Given the description of an element on the screen output the (x, y) to click on. 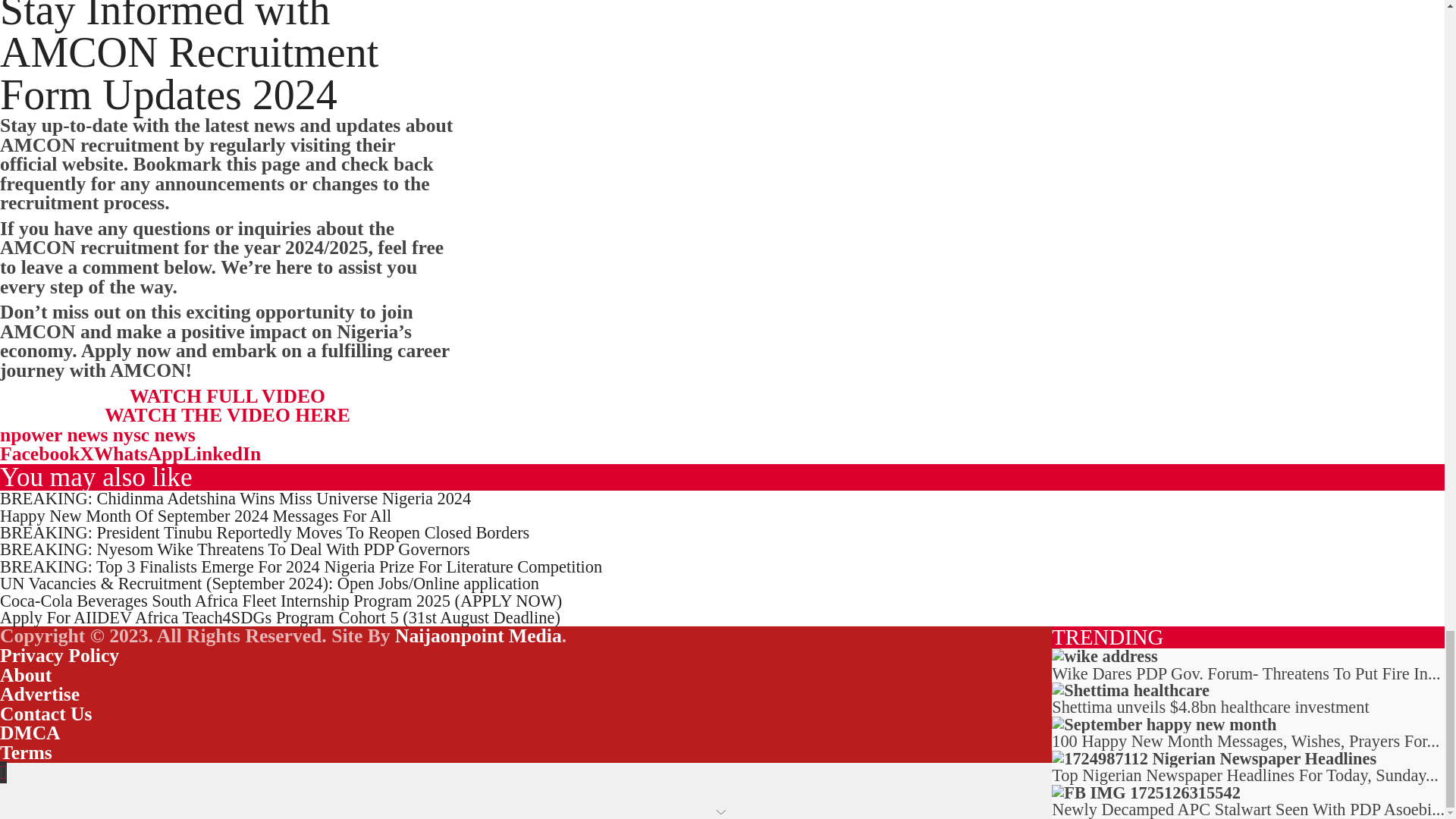
BREAKING: Nyesom Wike Threatens To Deal With PDP Governors (235, 548)
Happy New Month Of September 2024 Messages For All (195, 515)
